Given the description of an element on the screen output the (x, y) to click on. 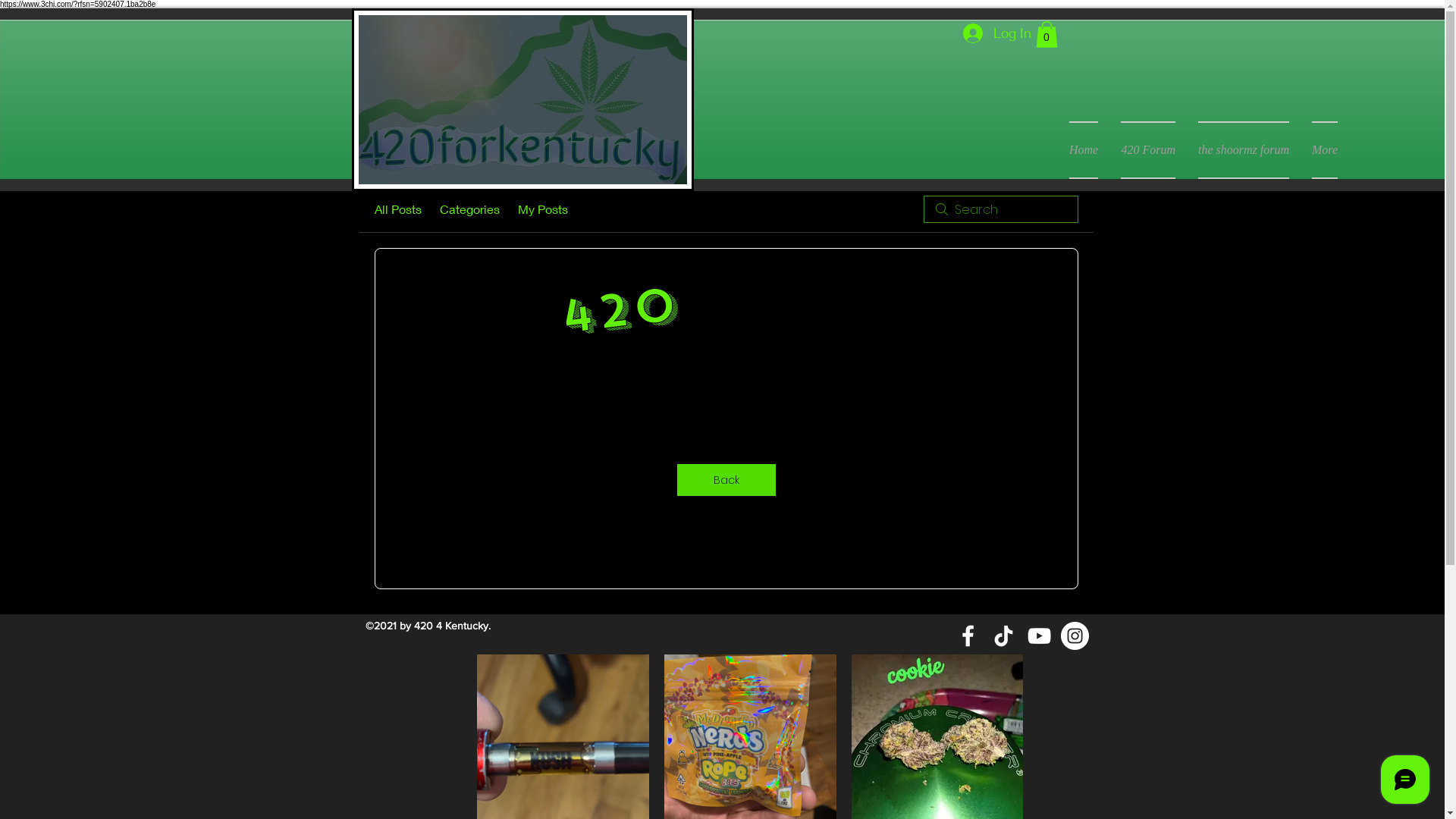
Facebook Like Element type: hover (1158, 37)
Home Element type: text (1083, 149)
My Posts Element type: text (542, 209)
_edited.jpg Element type: hover (522, 99)
420 Forum Element type: text (1147, 149)
Categories Element type: text (469, 209)
Back Element type: text (725, 479)
the shoormz forum Element type: text (1243, 149)
Log In Element type: text (993, 32)
All Posts Element type: text (397, 209)
0 Element type: text (1046, 34)
